Given the description of an element on the screen output the (x, y) to click on. 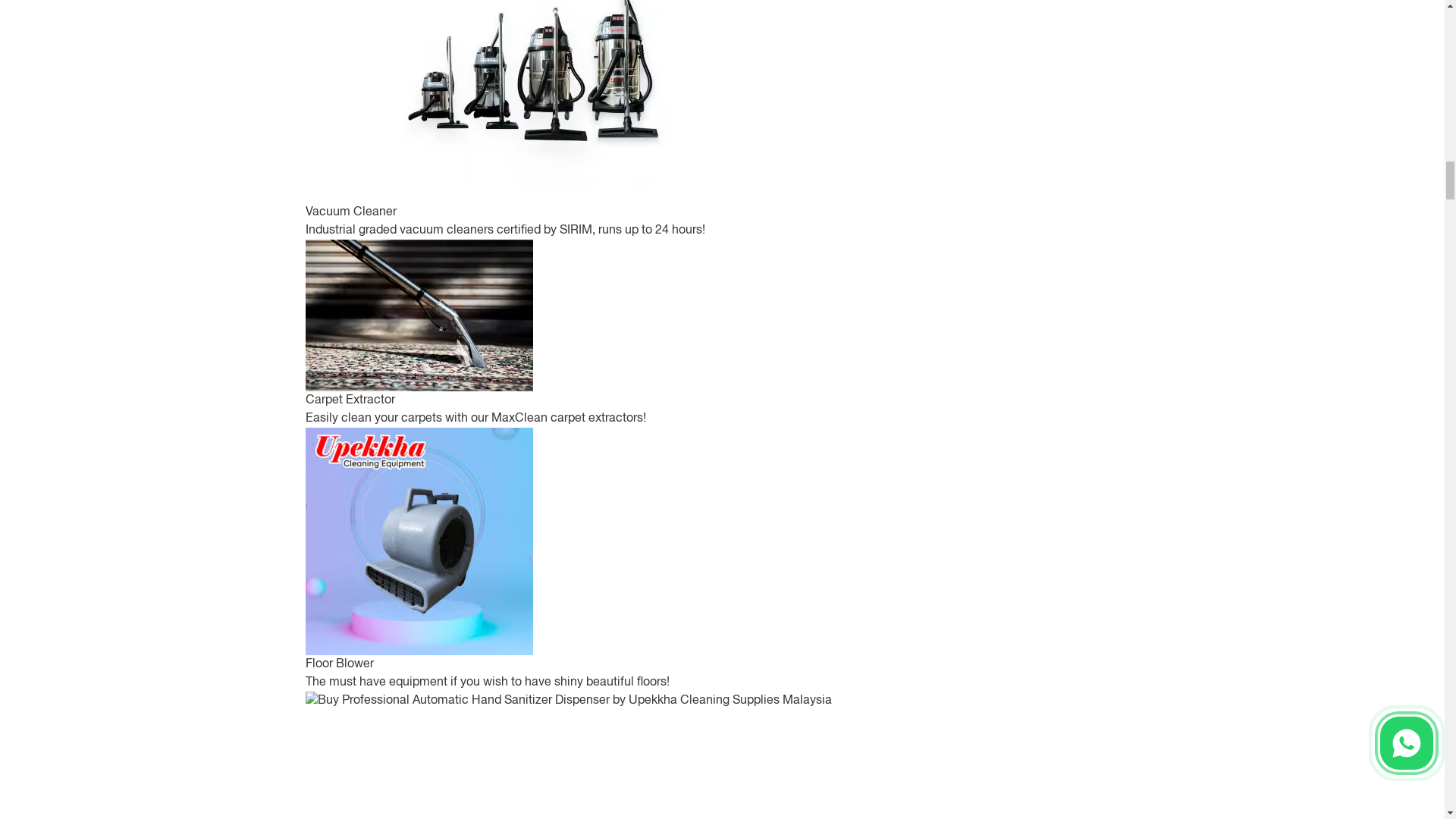
ESD Floor Care (346, 785)
Carpet Care (337, 466)
Car Care (328, 185)
